Given the description of an element on the screen output the (x, y) to click on. 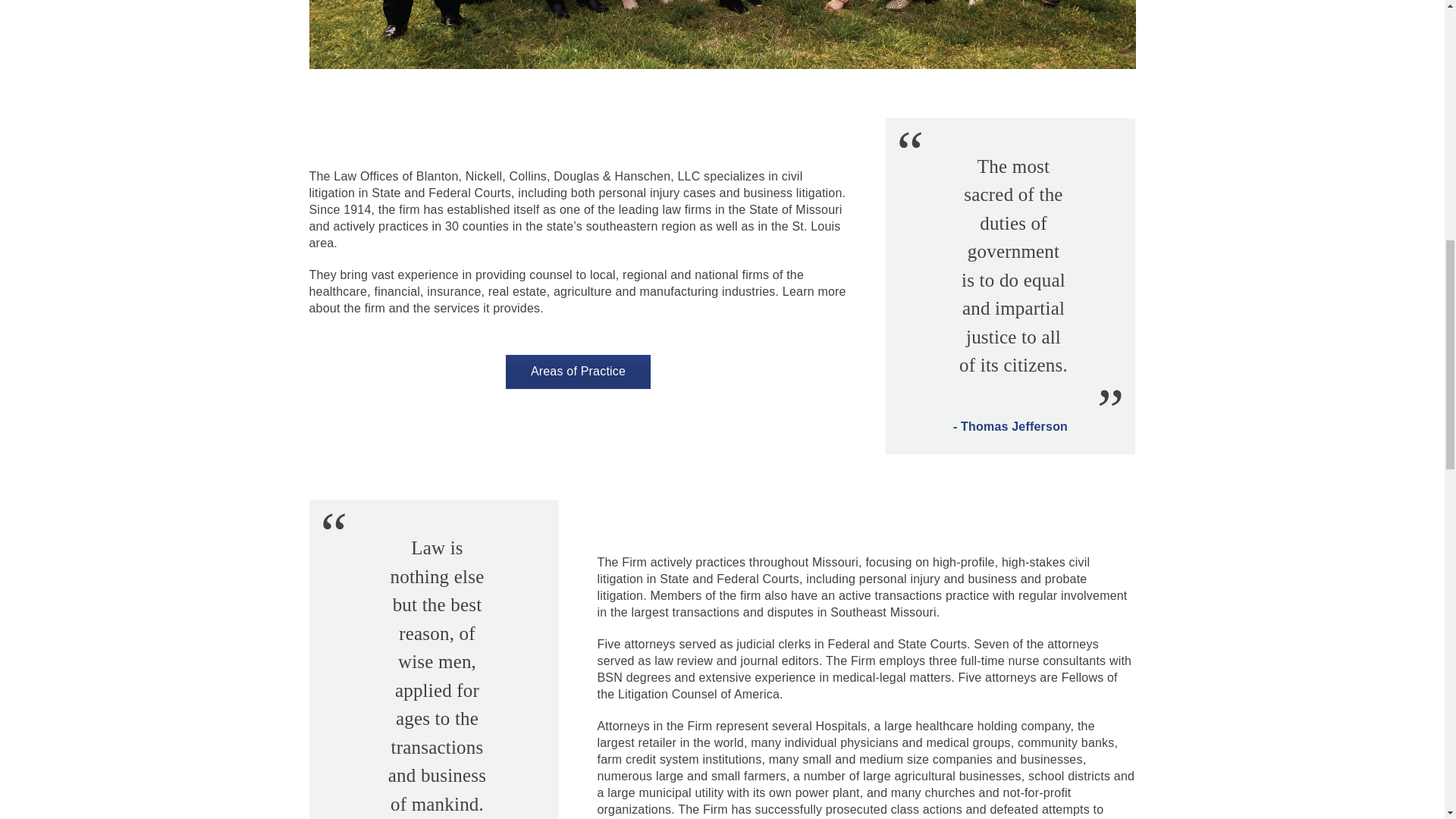
OurTeam2 (721, 34)
Areas of Practice (577, 371)
Areas of Practice (577, 371)
